Given the description of an element on the screen output the (x, y) to click on. 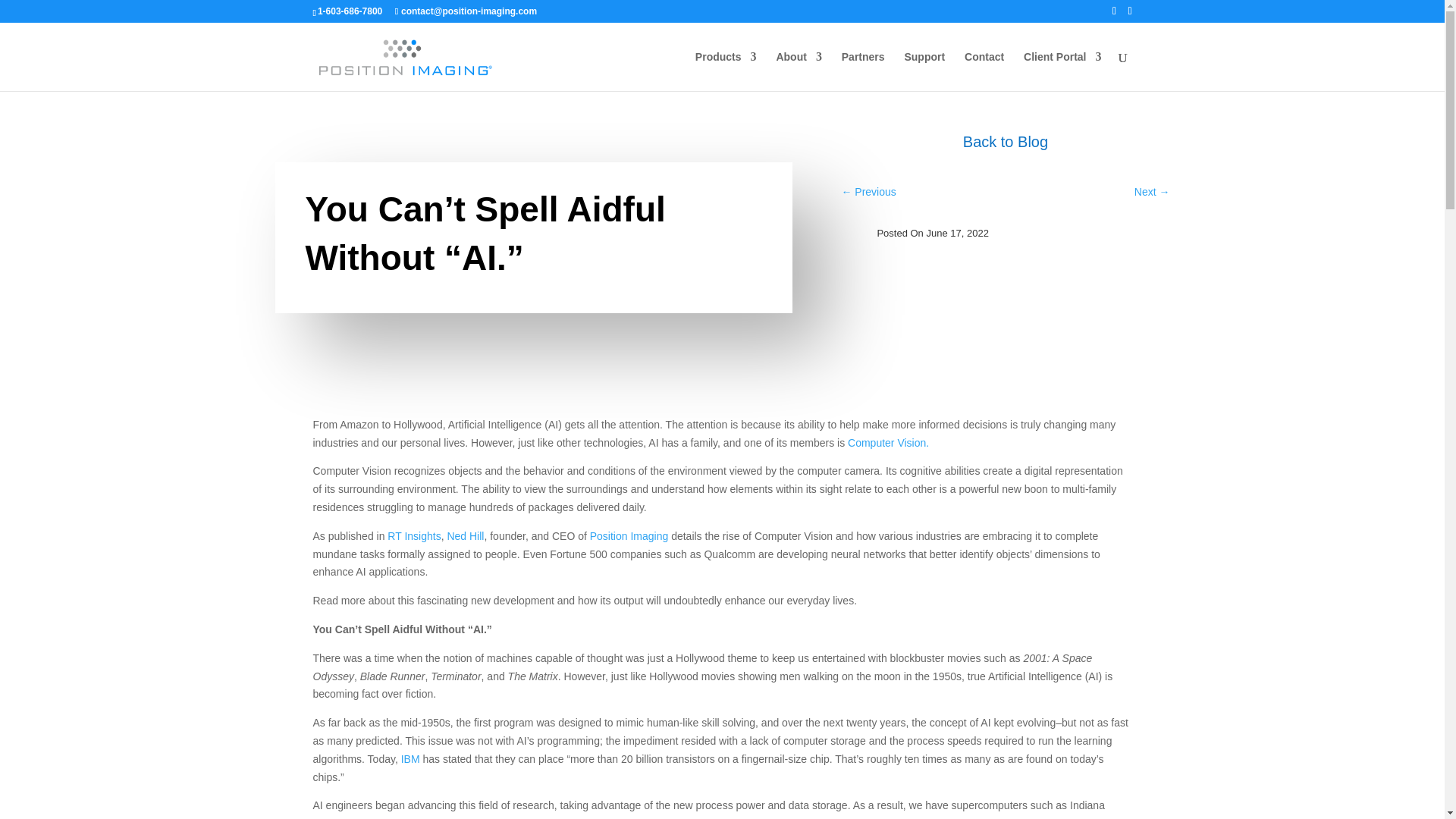
Contact (983, 70)
Computer Vision.  (889, 442)
Products (726, 70)
Position Imaging (627, 535)
IBM (412, 758)
About (798, 70)
Partners (863, 70)
Back to Blog (1004, 141)
Ned Hill (464, 535)
RT Insights (414, 535)
